Given the description of an element on the screen output the (x, y) to click on. 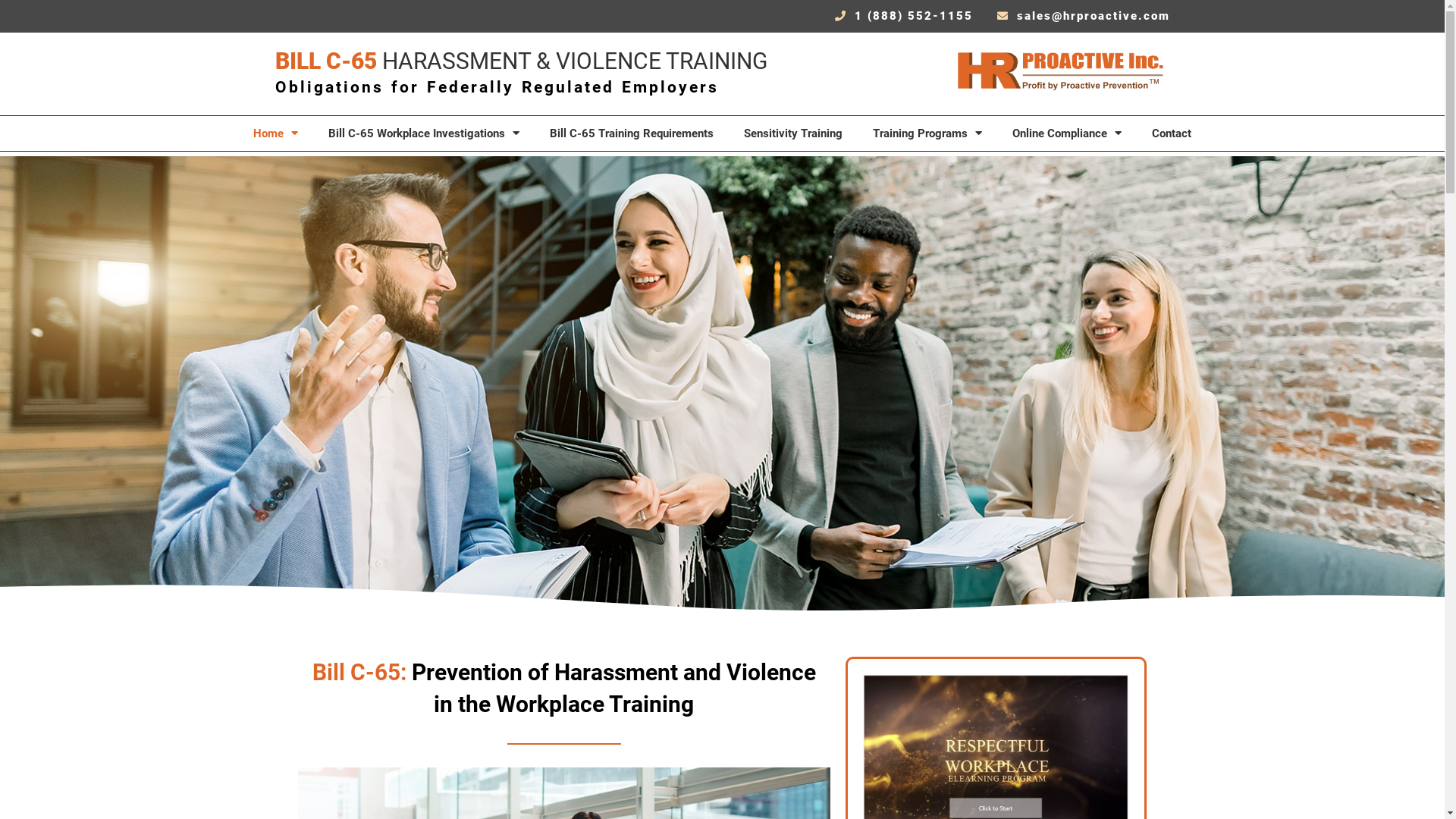
Obligations for Federally Regulated Employers Element type: text (496, 86)
Training Programs Element type: text (927, 132)
Bill C-65 Workplace Investigations Element type: text (423, 132)
BILL C-65 HARASSMENT & VIOLENCE TRAINING Element type: text (520, 60)
Sensitivity Training Element type: text (792, 132)
sales@hrproactive.com Element type: text (1082, 16)
Contact Element type: text (1171, 132)
1 (888) 552-1155 Element type: text (903, 16)
Home Element type: text (275, 132)
Online Compliance Element type: text (1066, 132)
Bill C-65 Training Requirements Element type: text (631, 132)
